Given the description of an element on the screen output the (x, y) to click on. 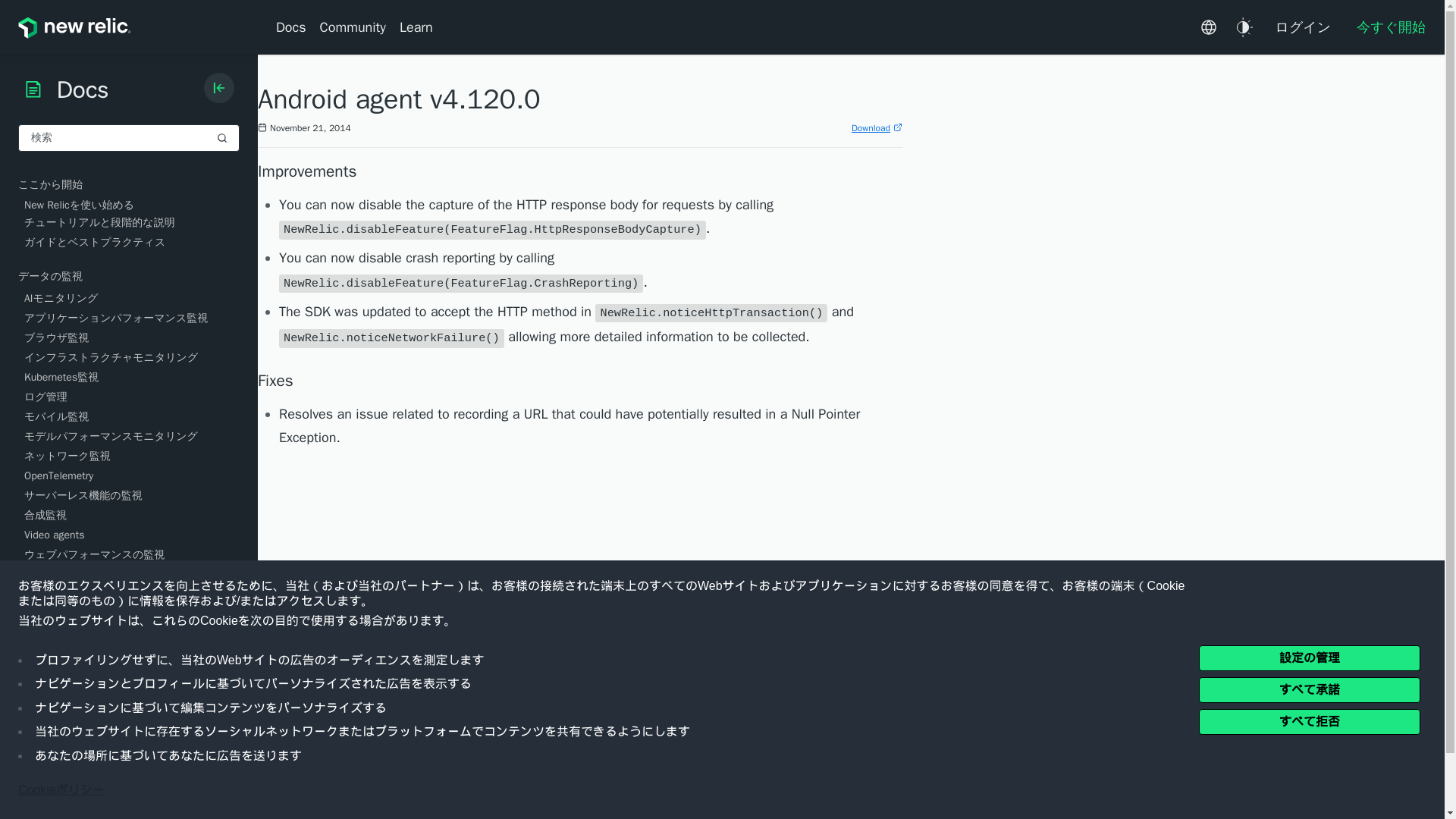
Docs (294, 27)
Learn (416, 27)
Community (353, 27)
